Given the description of an element on the screen output the (x, y) to click on. 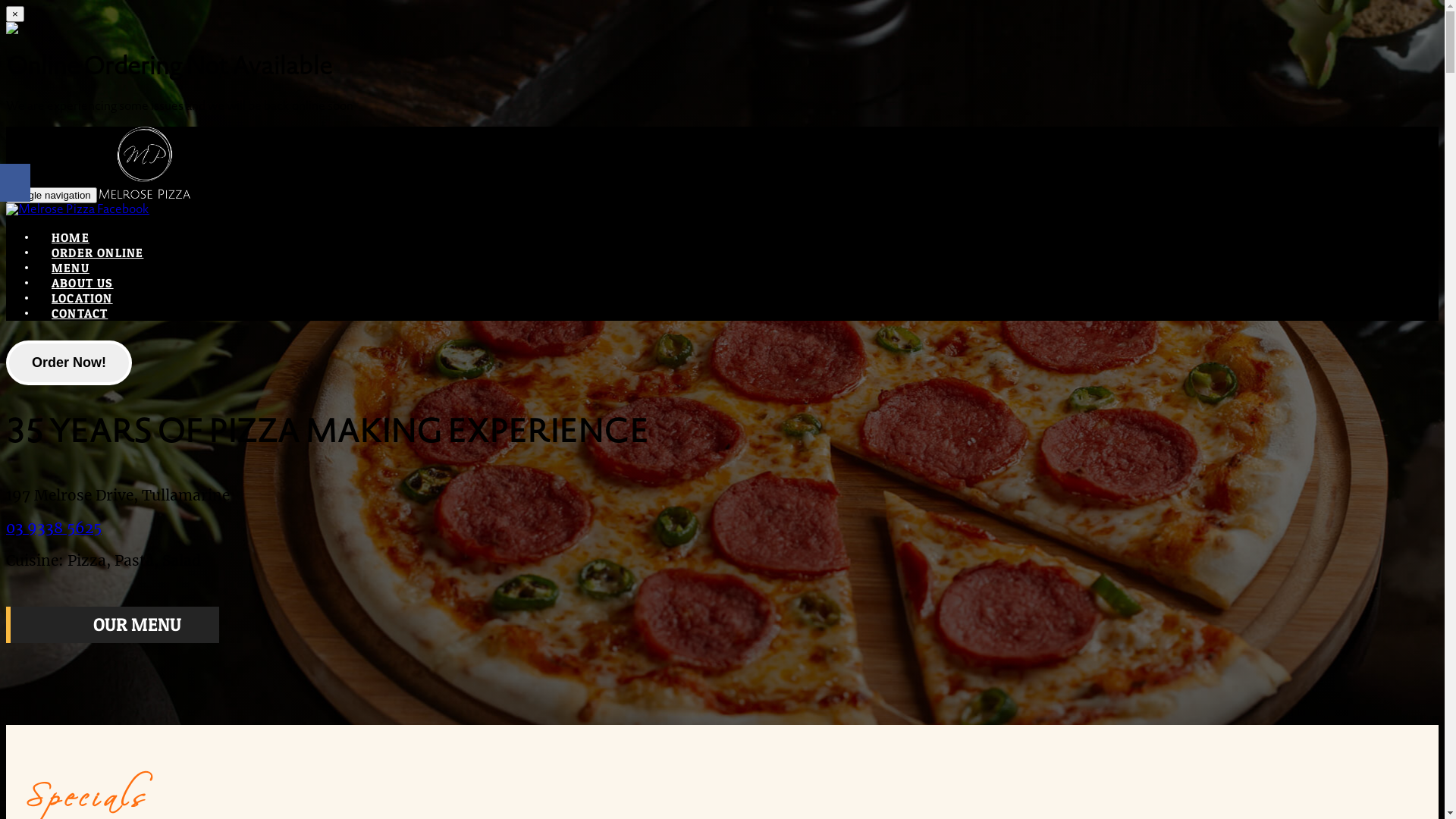
03 9338 5625 Element type: text (53, 527)
Toggle navigation Element type: text (51, 195)
Order Now! Element type: text (68, 362)
ABOUT US Element type: text (82, 282)
Share on Facebook Element type: hover (15, 182)
MENU Element type: text (70, 267)
LOCATION Element type: text (82, 297)
CONTACT Element type: text (79, 313)
HOME Element type: text (70, 237)
ORDER ONLINE Element type: text (97, 252)
Order Now! Element type: text (68, 364)
